Given the description of an element on the screen output the (x, y) to click on. 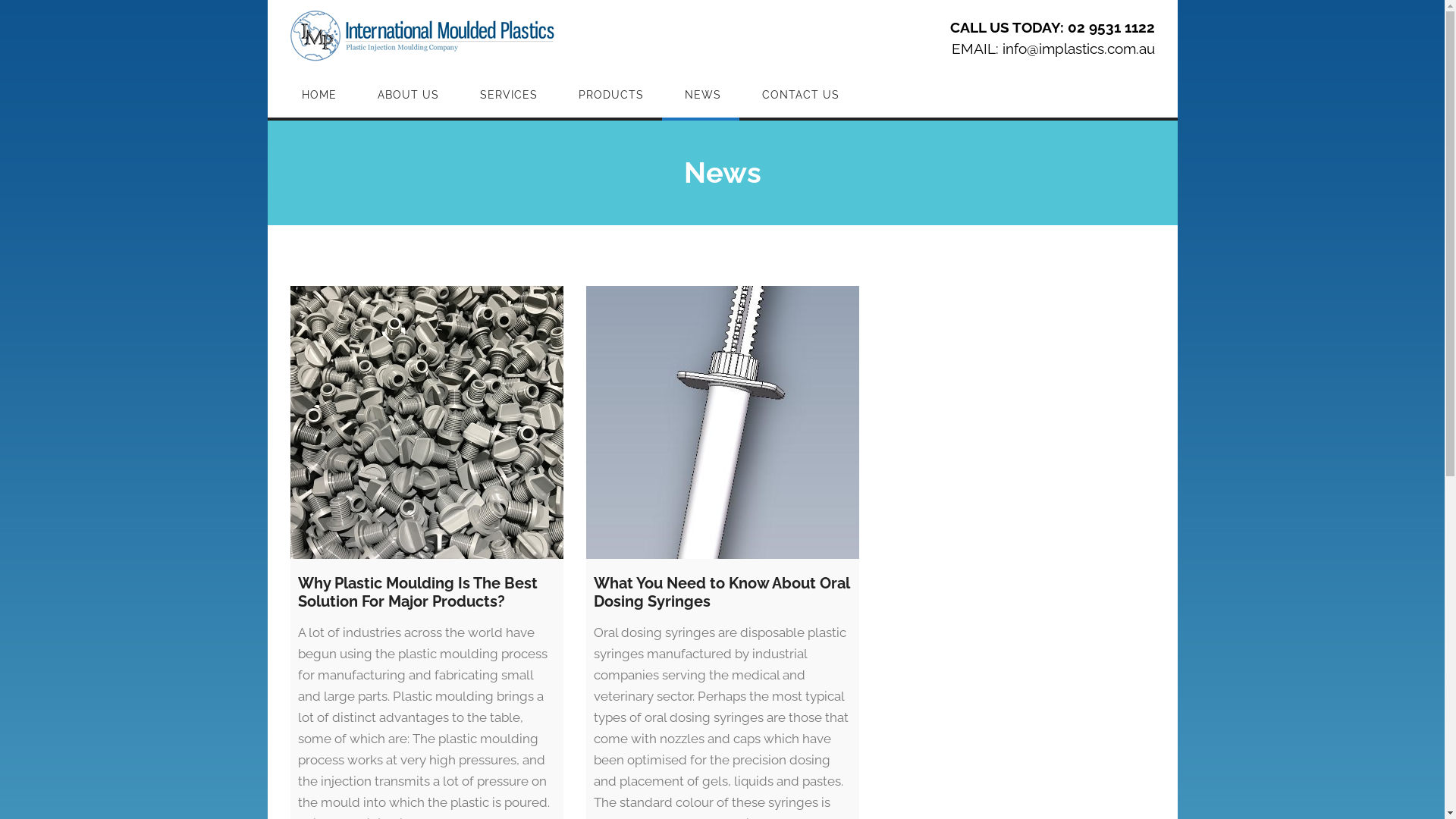
02 9531 1122 Element type: text (1110, 26)
HOME Element type: text (316, 94)
ABOUT US Element type: text (405, 94)
CONTACT US Element type: text (797, 94)
info@implastics.com.au Element type: text (1078, 48)
NEWS Element type: text (699, 94)
PRODUCTS Element type: text (608, 94)
SERVICES Element type: text (505, 94)
What You Need to Know About Oral Dosing Syringes Element type: hover (721, 421)
